Given the description of an element on the screen output the (x, y) to click on. 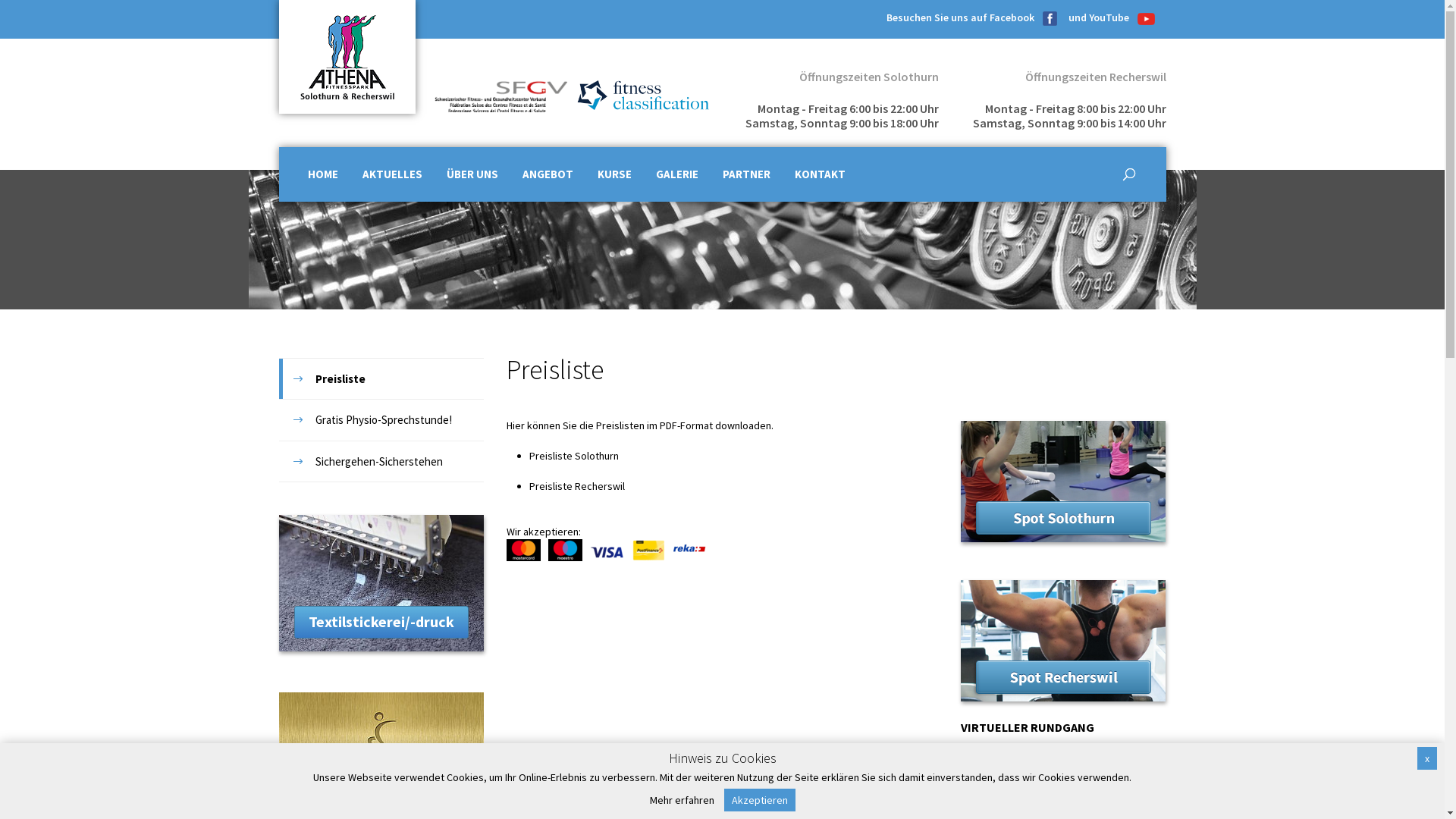
ANGEBOT Element type: text (547, 174)
Sichergehen-Sicherstehen Element type: text (381, 461)
Preisliste Solothurn Element type: text (573, 455)
x Element type: text (1427, 757)
KURSE Element type: text (613, 174)
Preisliste Recherswil Element type: text (576, 485)
Preisliste Element type: text (381, 378)
PARTNER Element type: text (746, 174)
Textilstickerei/-druck Element type: text (381, 621)
GALERIE Element type: text (676, 174)
Akzeptieren Element type: text (758, 799)
Mehr erfahren Element type: text (681, 799)
HOME Element type: text (321, 174)
KONTAKT Element type: text (819, 174)
Gratis Physio-Sprechstunde! Element type: text (381, 419)
AKTUELLES Element type: text (391, 174)
